Given the description of an element on the screen output the (x, y) to click on. 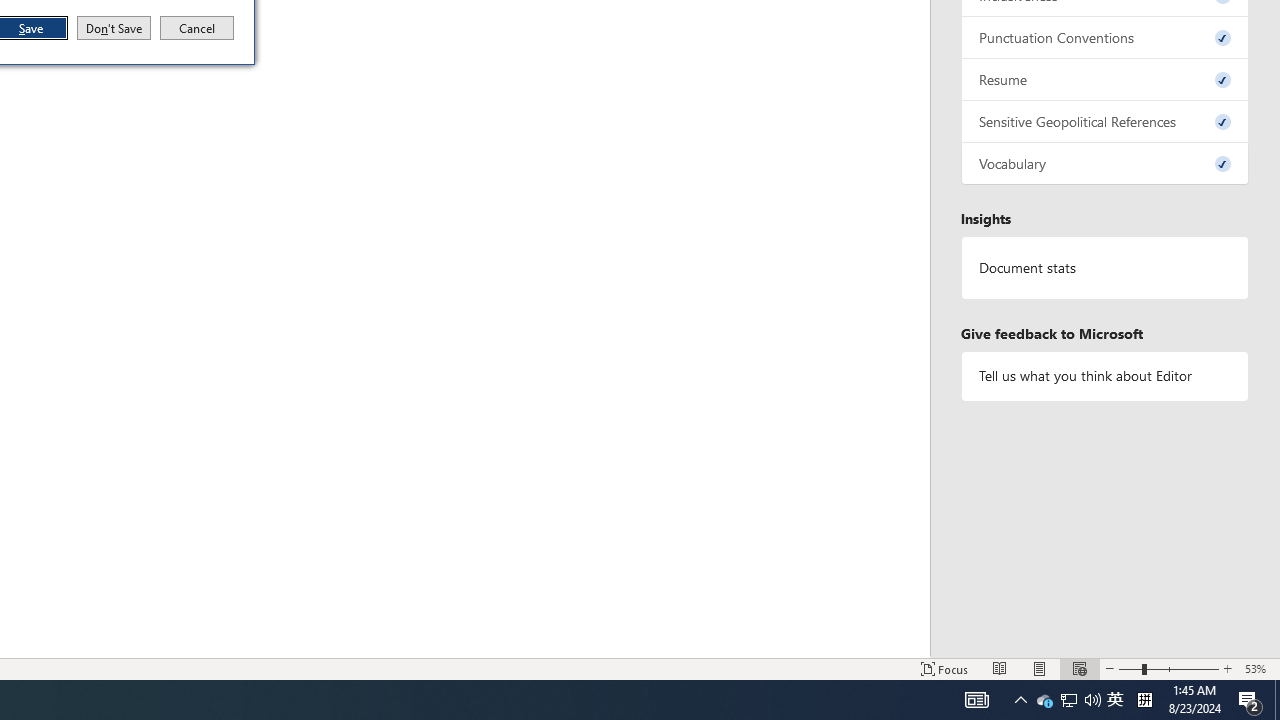
Document statistics (1105, 267)
Resume, 0 issues. Press space or enter to review items. (1105, 79)
Tell us what you think about Editor (1105, 376)
Tray Input Indicator - Chinese (Simplified, China) (1144, 699)
